Given the description of an element on the screen output the (x, y) to click on. 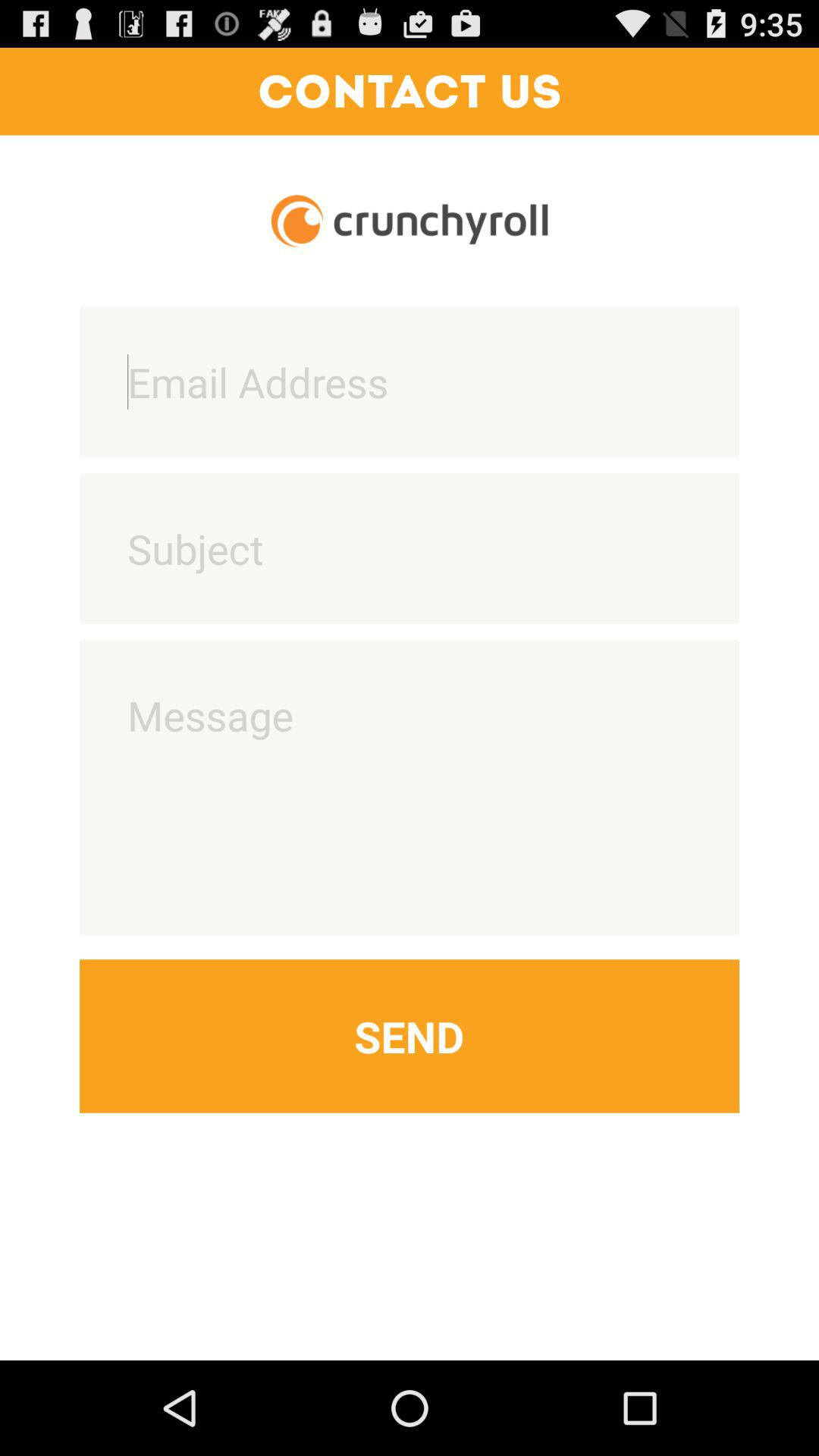
write a message to the crunchyroll team (409, 787)
